Given the description of an element on the screen output the (x, y) to click on. 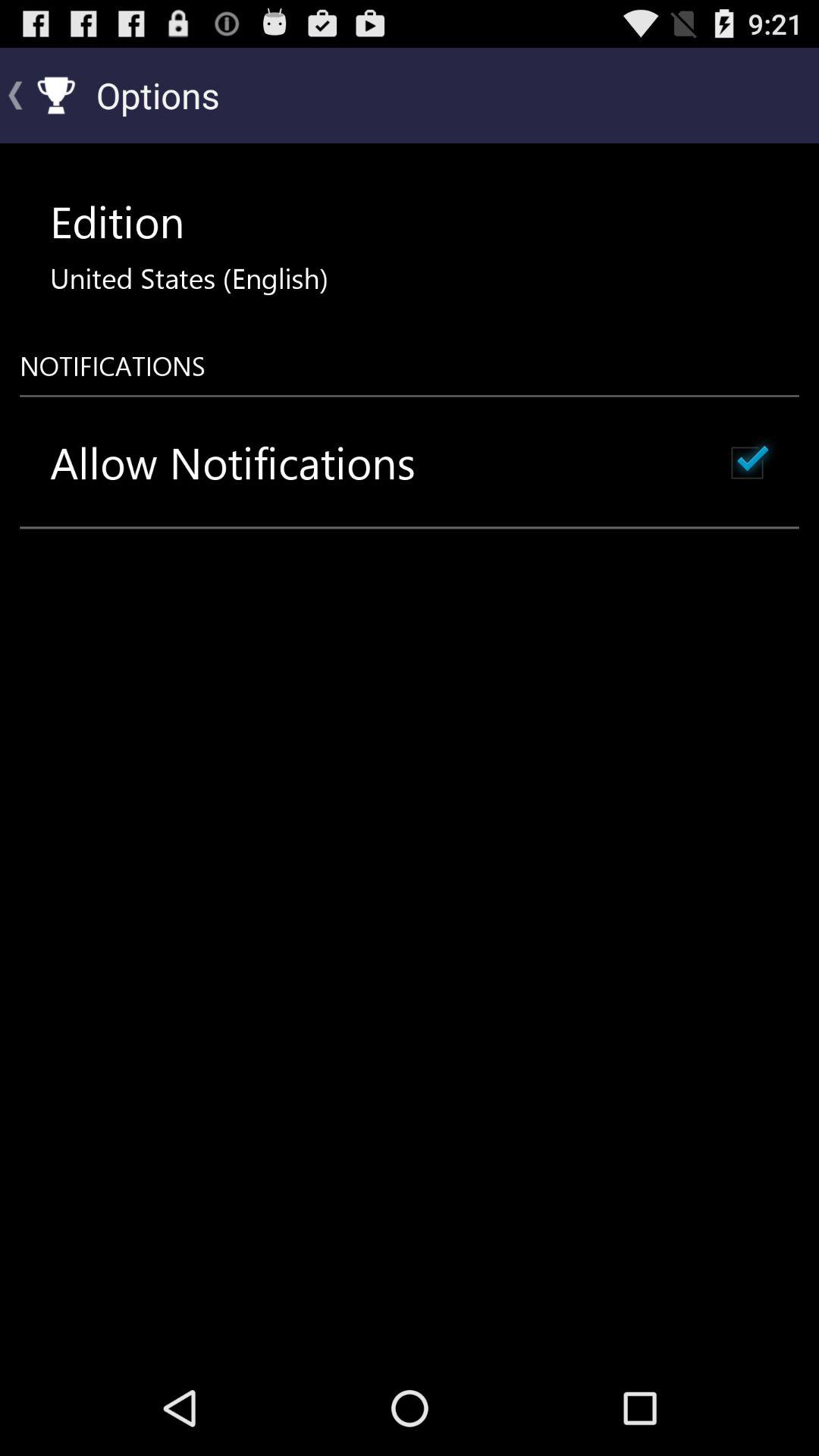
click the icon at the top right corner (747, 462)
